Given the description of an element on the screen output the (x, y) to click on. 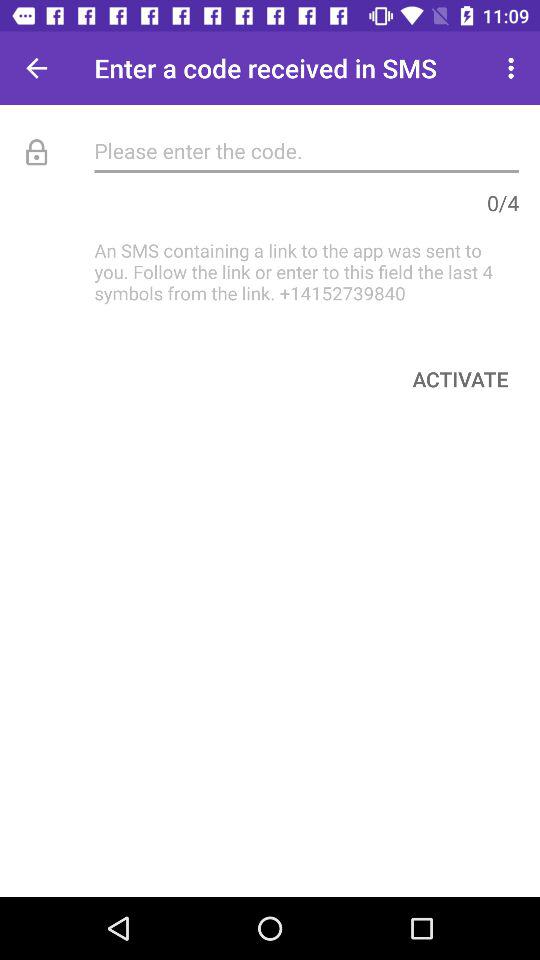
go to previous (36, 68)
